Given the description of an element on the screen output the (x, y) to click on. 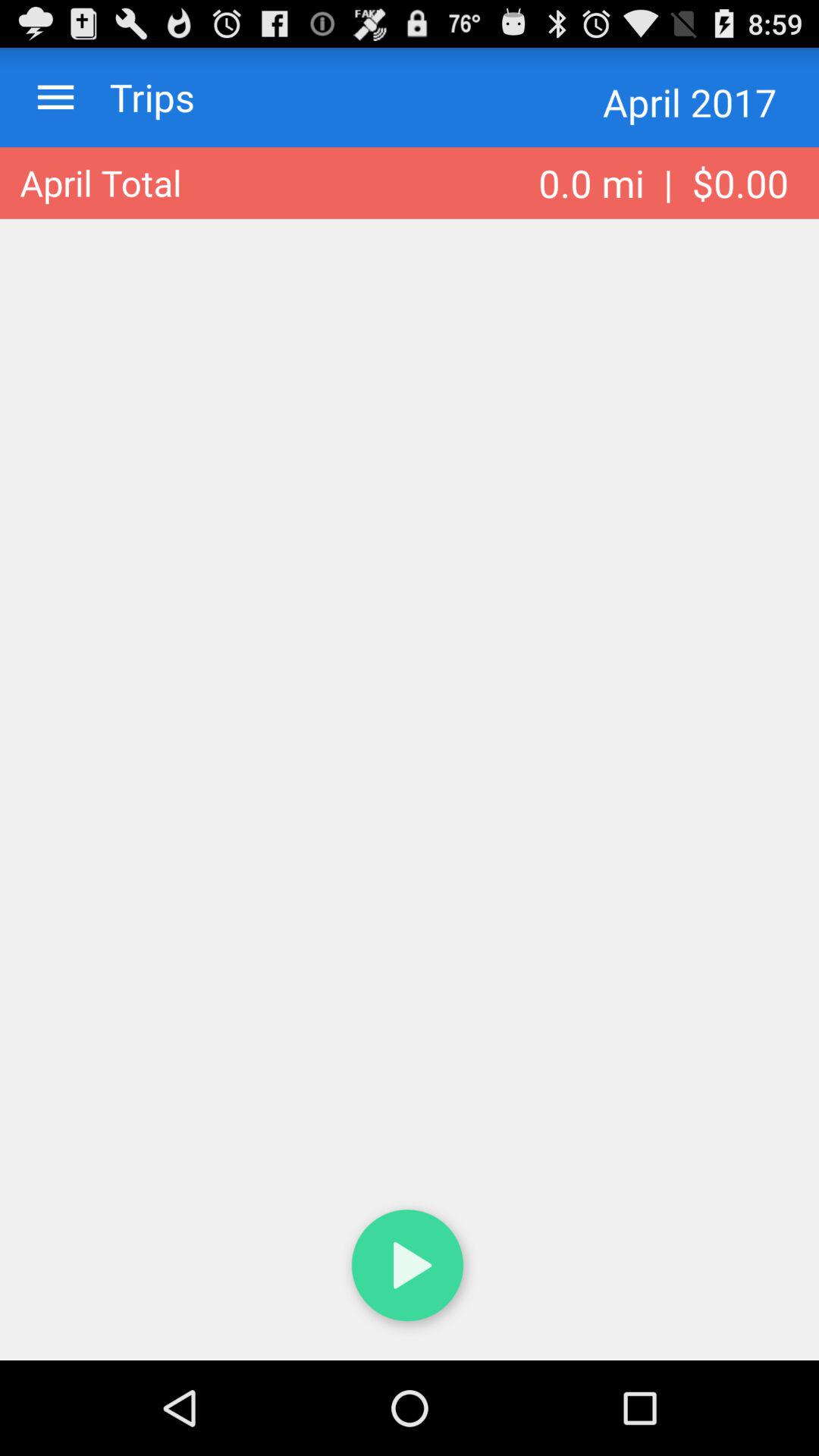
play button (409, 1268)
